Given the description of an element on the screen output the (x, y) to click on. 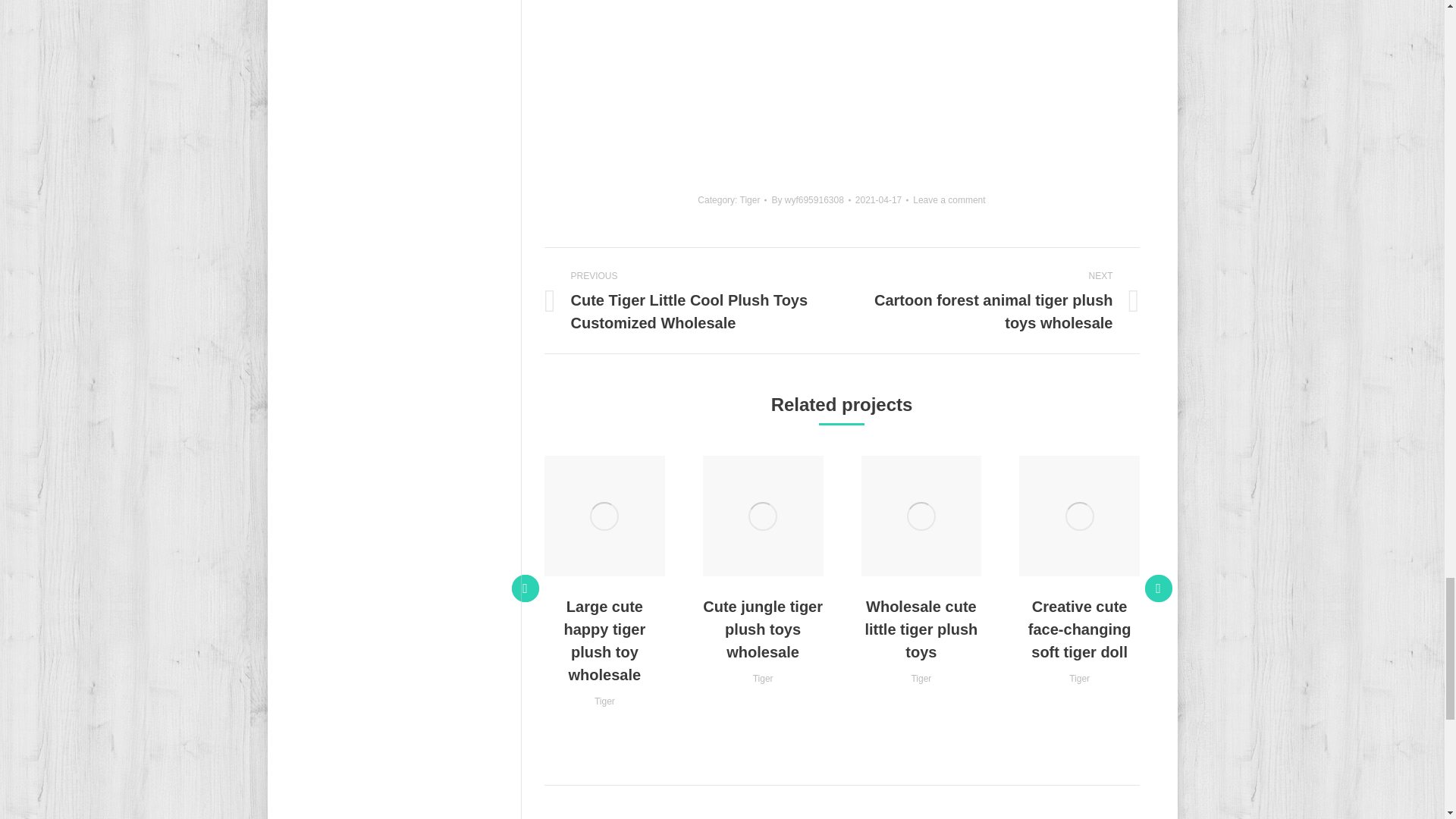
13:20 (882, 199)
View all posts by wyf695916308 (810, 199)
